Given the description of an element on the screen output the (x, y) to click on. 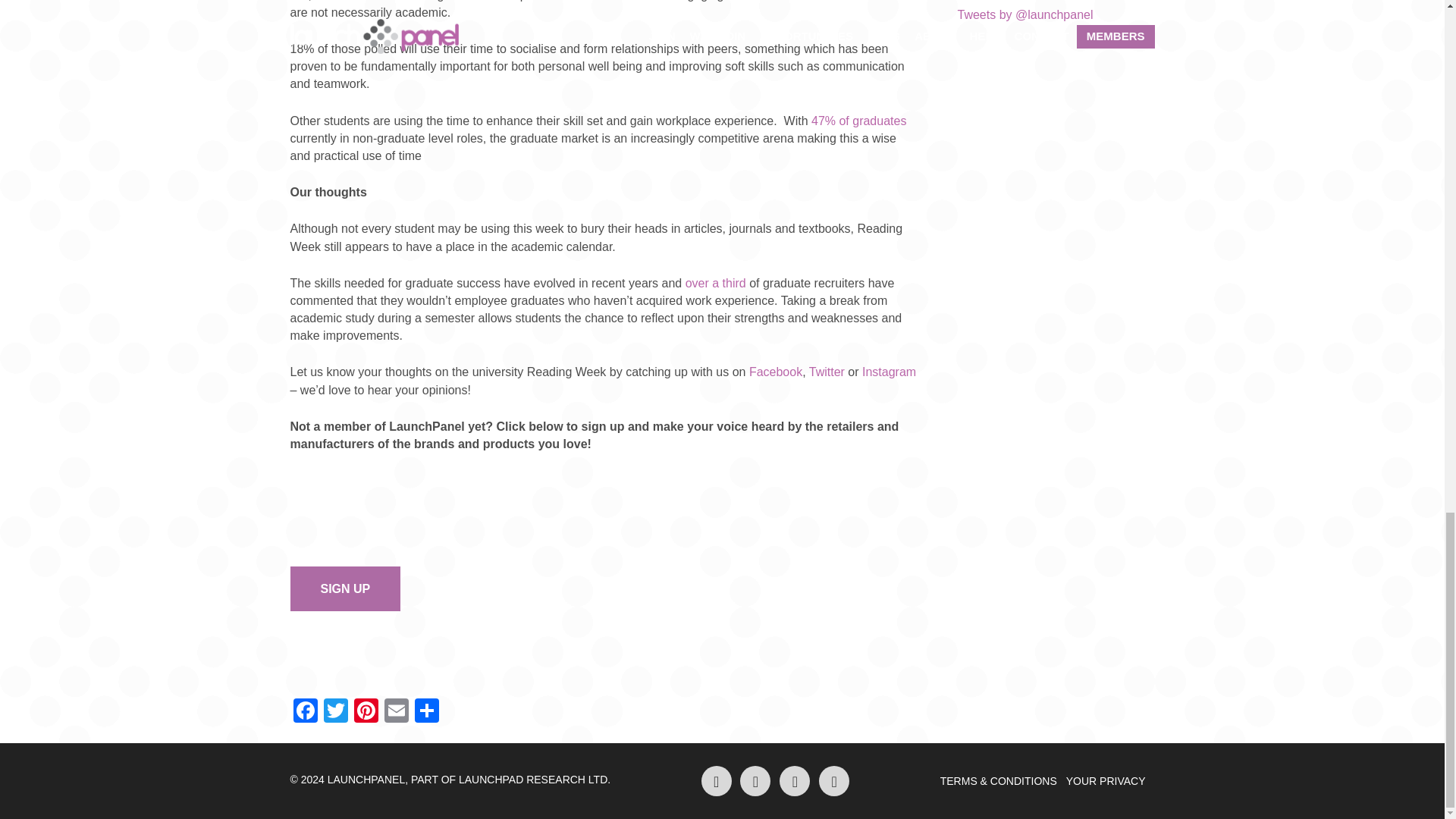
Pinterest (365, 712)
Share (425, 712)
Facebook (304, 712)
Instagram (888, 371)
SIGN UP (344, 588)
YOUR PRIVACY (1105, 780)
Twitter (335, 712)
Email (395, 712)
Pinterest (365, 712)
Facebook (304, 712)
Facebook (775, 371)
over a third (713, 282)
Twitter (335, 712)
Email (395, 712)
Twitter (826, 371)
